Given the description of an element on the screen output the (x, y) to click on. 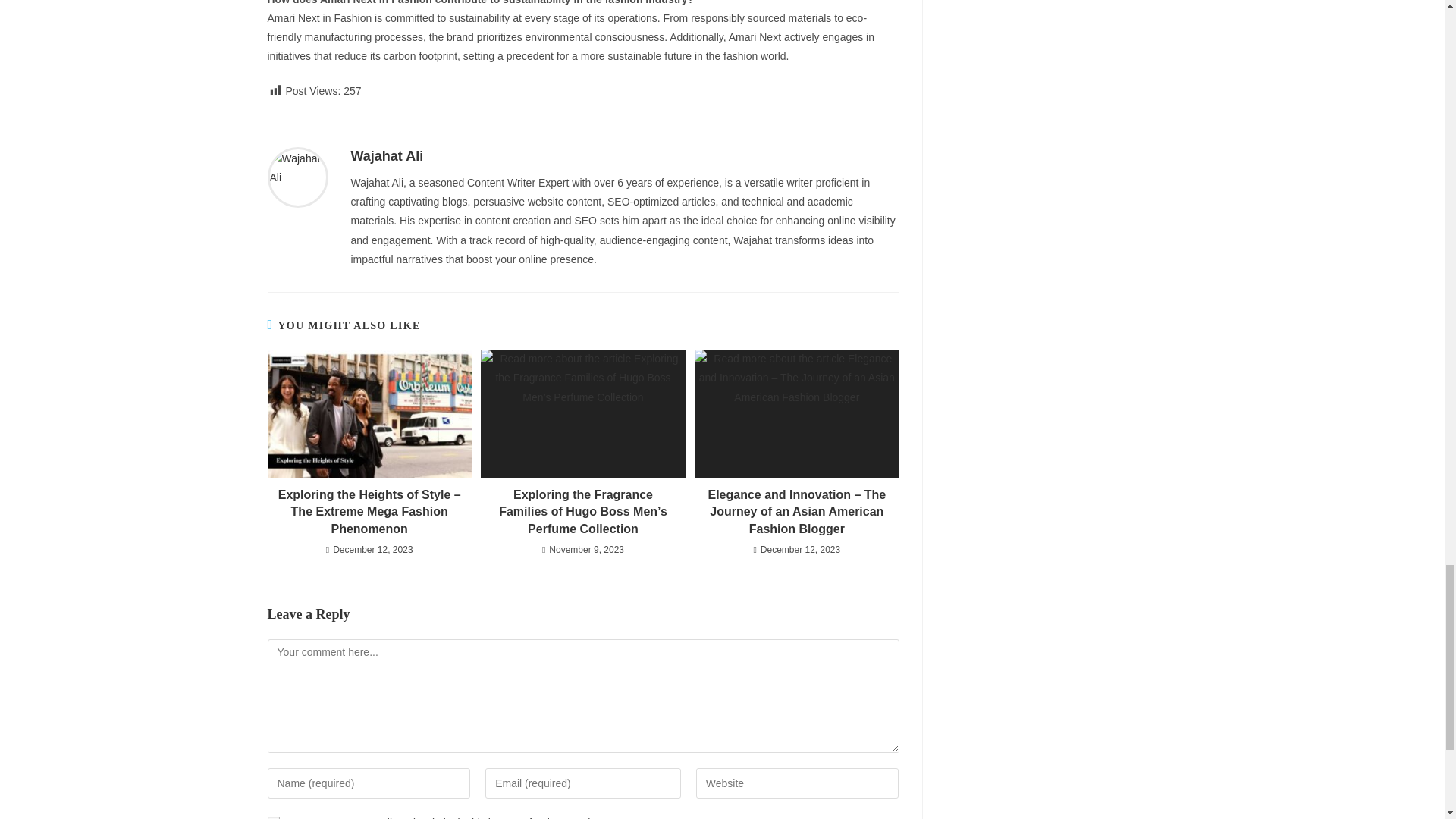
Visit author page (296, 177)
Visit author page (386, 155)
